Given the description of an element on the screen output the (x, y) to click on. 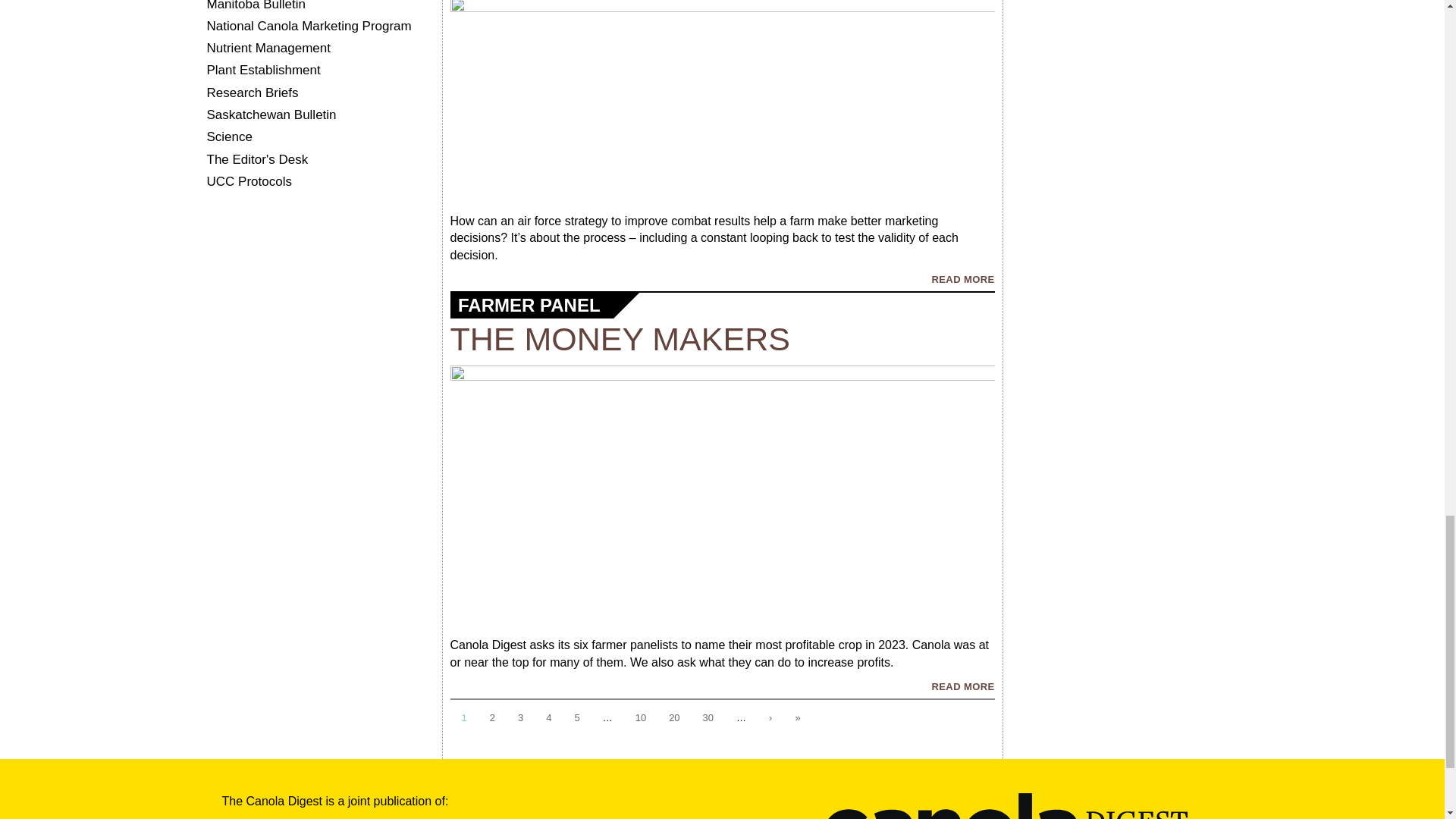
Page 2 (492, 718)
Page 4 (548, 718)
Page 5 (576, 718)
Page 3 (520, 718)
